Given the description of an element on the screen output the (x, y) to click on. 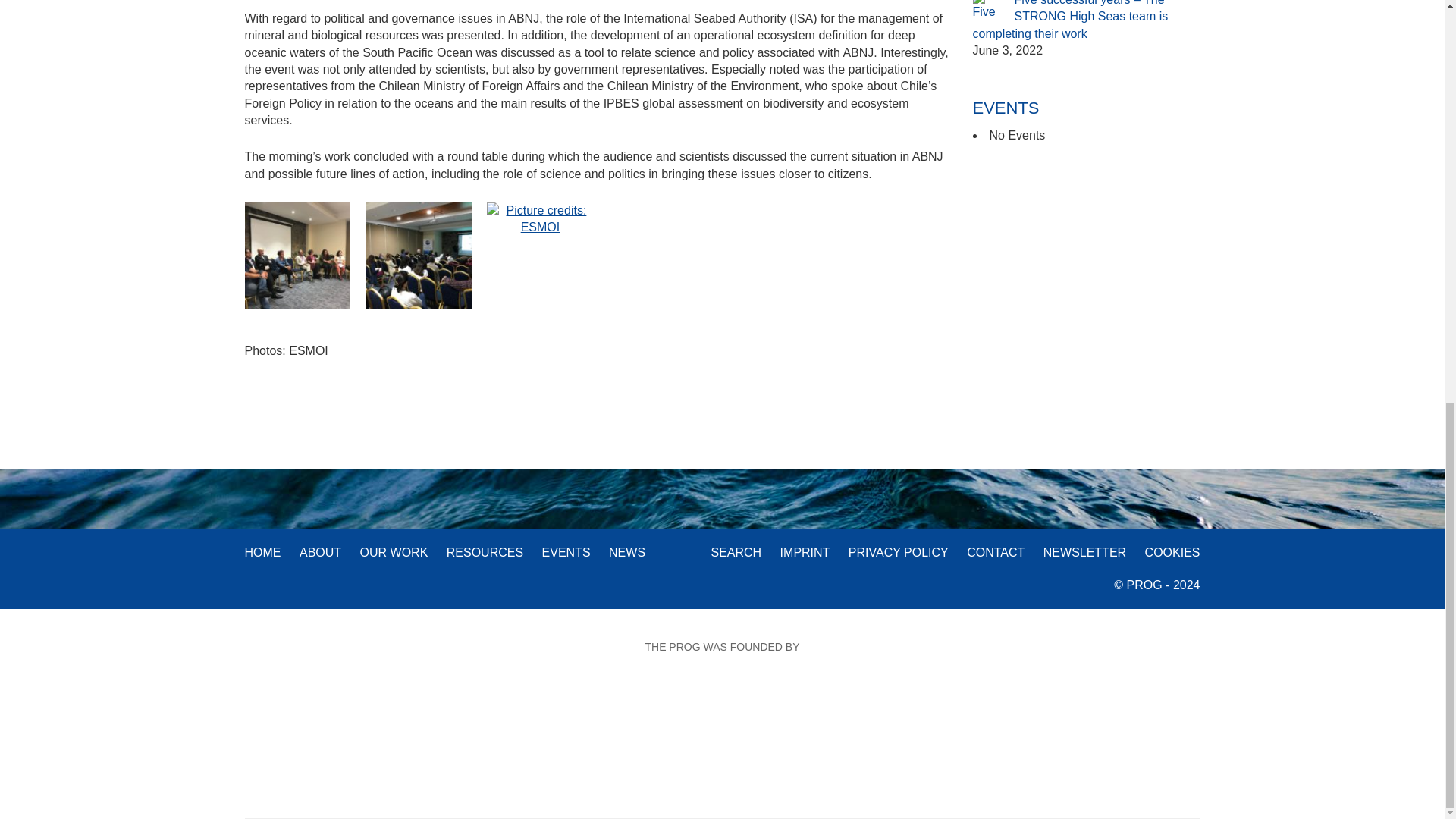
TMG (791, 721)
UNEP (946, 721)
Picture credits: ESMOI (418, 254)
Picture credits: ESMOI (297, 254)
RIFS (489, 721)
Picture credits: ESMOI (539, 217)
IDDRI (636, 721)
